Given the description of an element on the screen output the (x, y) to click on. 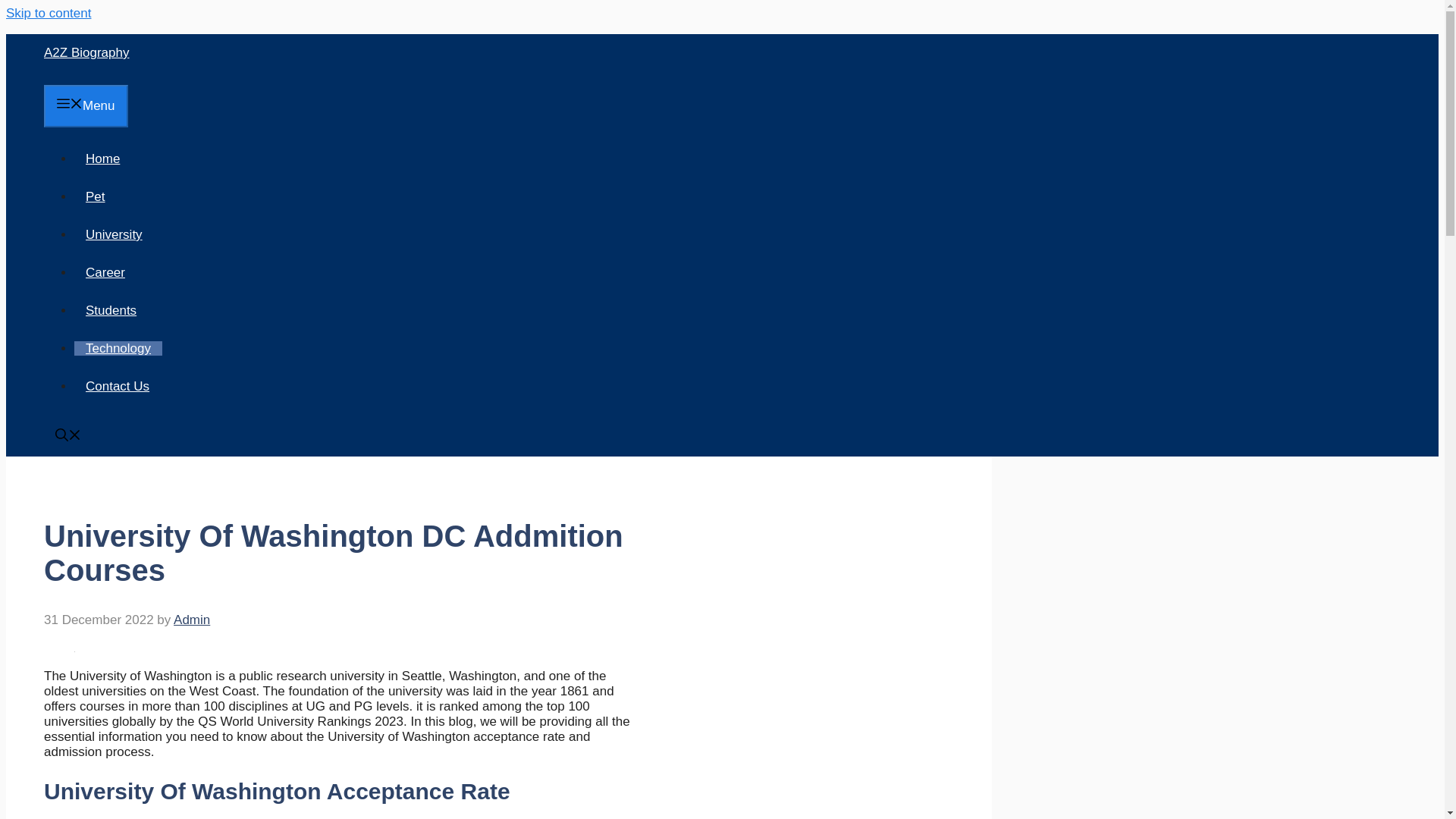
Technology (117, 348)
Menu (85, 106)
A2Z Biography (86, 52)
Admin (191, 619)
Students (111, 310)
Contact Us (117, 386)
University (114, 234)
Skip to content (47, 12)
View all posts by Admin (191, 619)
Pet (95, 196)
